Given the description of an element on the screen output the (x, y) to click on. 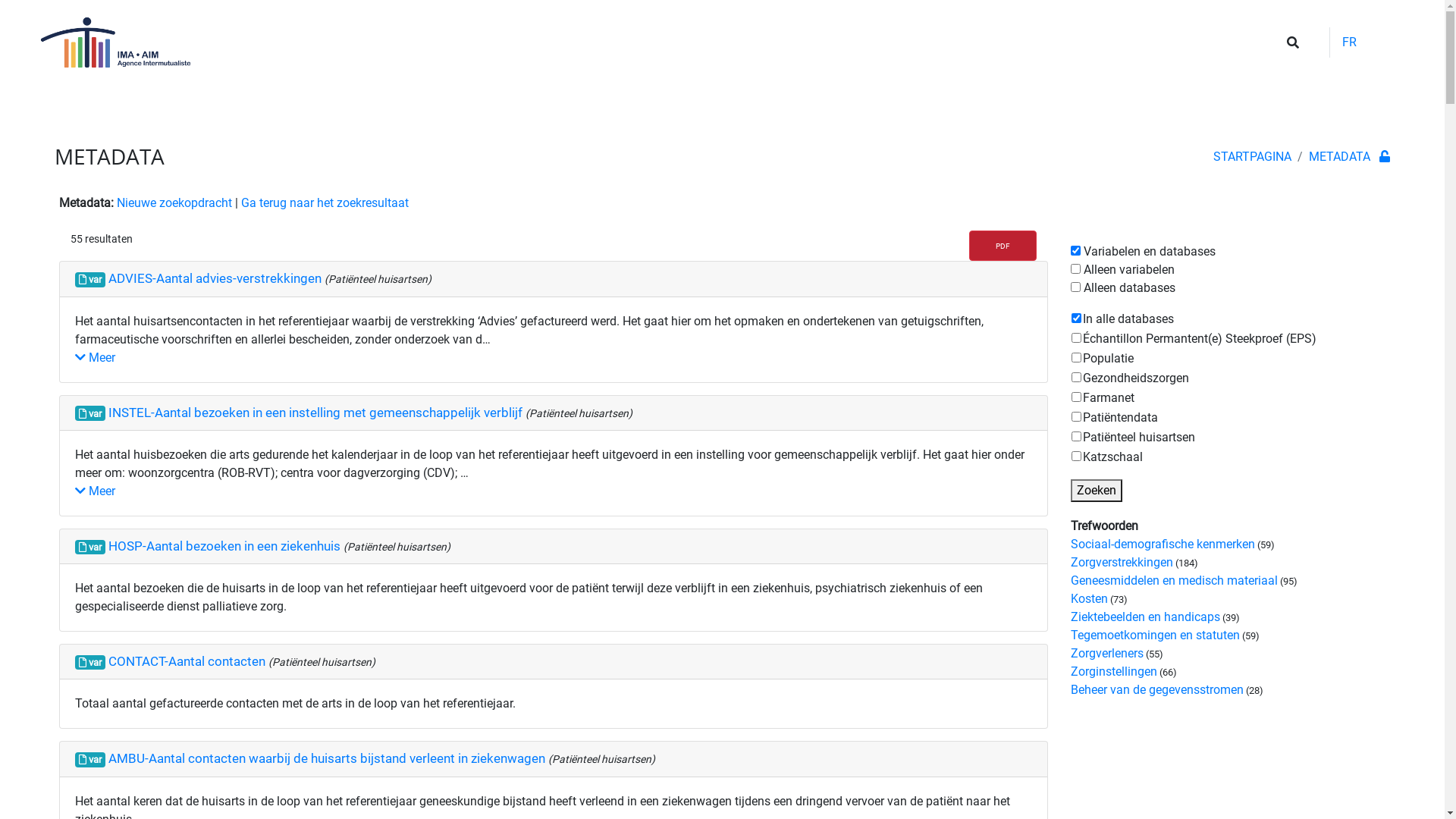
Sociaal-demografische kenmerken Element type: text (1162, 543)
IMA ATLAS Element type: text (1291, 108)
Tegemoetkomingen en statuten Element type: text (1154, 634)
Gezondheidsdata Element type: text (347, 108)
Nieuwe zoekopdracht Element type: text (174, 202)
Nieuws Element type: text (500, 108)
Meer Element type: text (95, 490)
Meer Element type: text (95, 357)
Projecten Element type: text (437, 108)
Ziektebeelden en handicaps Element type: text (1145, 616)
Contact Element type: text (1226, 108)
METADATA Element type: text (1339, 156)
CONTACT-Aantal contacten Element type: text (188, 660)
Geneesmiddelen en medisch materiaal Element type: text (1173, 580)
PDF Element type: text (1002, 245)
Zorgverleners Element type: text (1106, 653)
Zorgverstrekkingen Element type: text (1121, 562)
Beheer van de gegevensstromen Element type: text (1156, 689)
ADVIES-Aantal advies-verstrekkingen Element type: text (216, 277)
HOSP-Aantal bezoeken in een ziekenhuis Element type: text (225, 545)
STARTPAGINA Element type: text (1252, 156)
Metadata Element type: text (1360, 108)
Zorginstellingen Element type: text (1113, 671)
FR Element type: text (1348, 42)
InterMutualistisch Agentschap Element type: text (165, 108)
Zoeken Element type: text (1096, 490)
Ga terug naar het zoekresultaat Element type: text (324, 202)
Kosten Element type: text (1088, 598)
Wie zijn we?  Element type: text (572, 108)
